Given the description of an element on the screen output the (x, y) to click on. 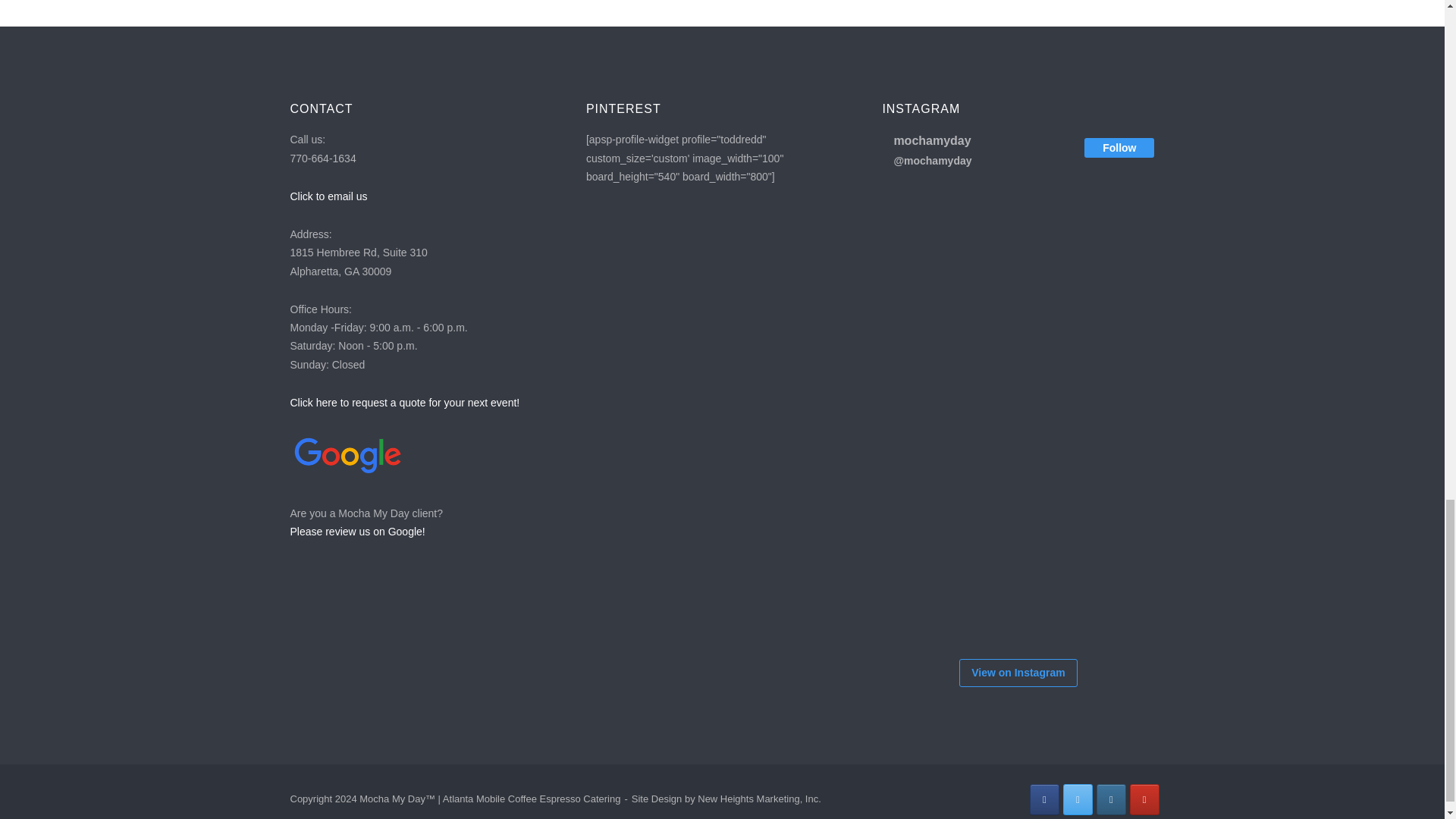
Dog gone good time!! (927, 237)
Click here to request a quote for your next event! (404, 402)
Please review us on Google! (357, 531)
Follow (1119, 148)
Making smoothies for Rivian. (1018, 328)
Click to email us (327, 196)
